Given the description of an element on the screen output the (x, y) to click on. 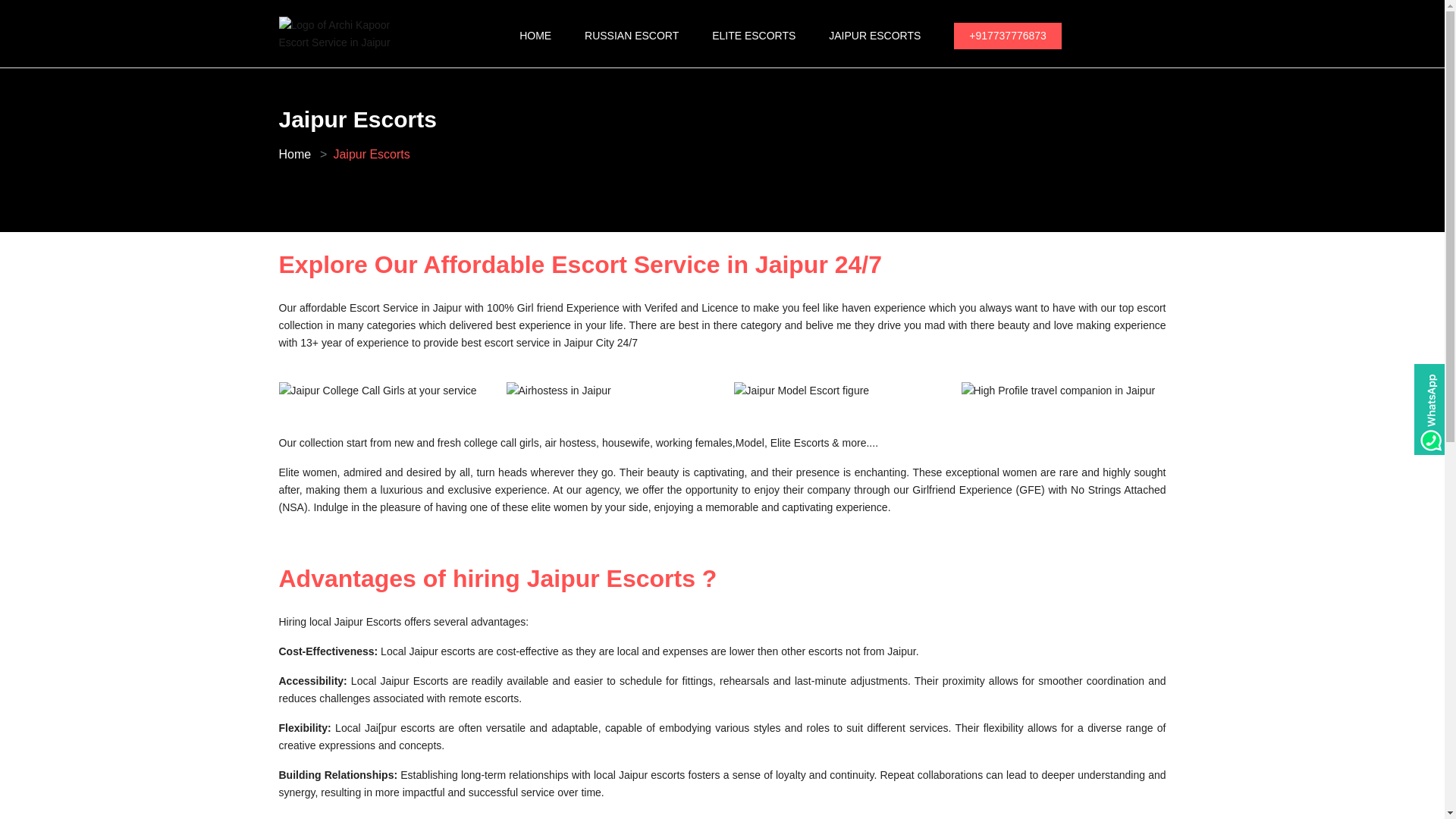
Hot Sexy Elite Model Escorts in Jaipur (378, 390)
Model Escort at your service (801, 390)
RUSSIAN ESCORT (631, 35)
JAIPUR ESCORTS (874, 35)
Escorts in Jaipur City (874, 35)
Escort Service in Jaipur (295, 154)
Home (295, 154)
ELITE ESCORTS (752, 35)
Air-hostess at your service (558, 390)
HOME (535, 35)
VIP Jaipur companion (1058, 390)
Elite Escorts in Jaipur (752, 35)
Russian Escorts in Jaipur (631, 35)
